Given the description of an element on the screen output the (x, y) to click on. 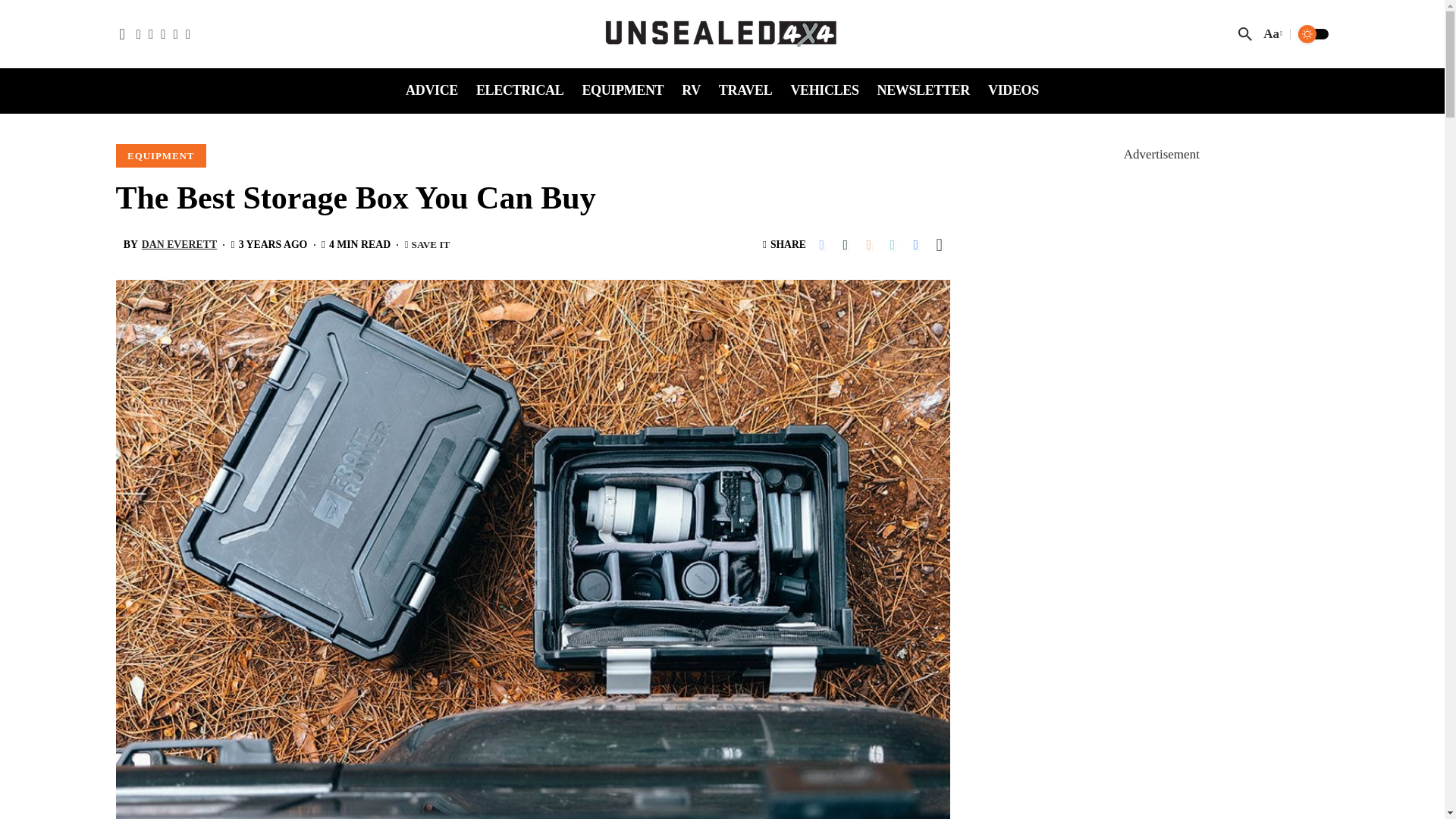
VEHICLES (823, 90)
Unsealed 4X4 (721, 33)
ELECTRICAL (519, 90)
Aa (1270, 34)
NEWSLETTER (922, 90)
3rd party ad content (1161, 260)
VIDEOS (1013, 90)
EQUIPMENT (622, 90)
TRAVEL (745, 90)
ADVICE (431, 90)
